Given the description of an element on the screen output the (x, y) to click on. 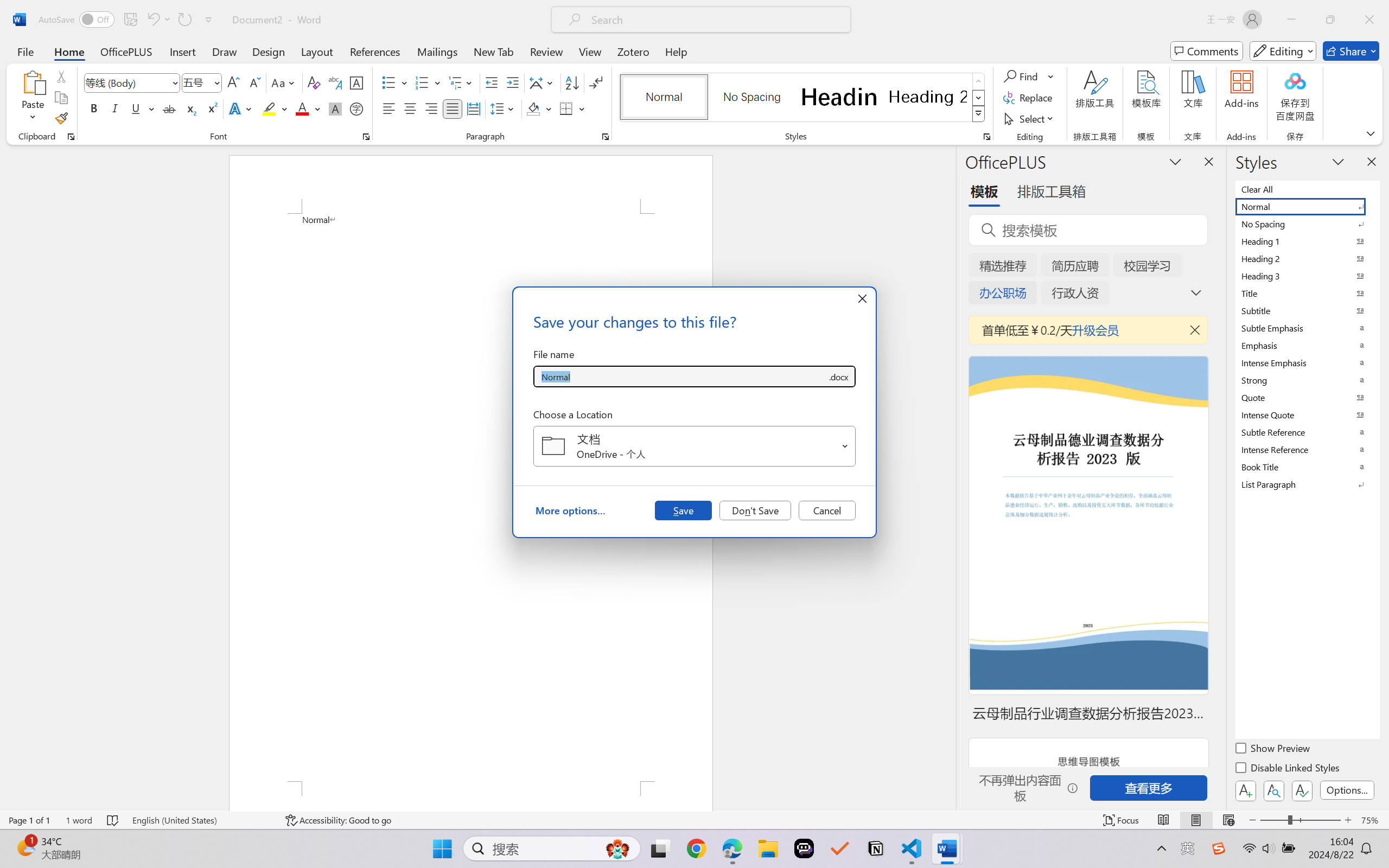
Language English (United States) (201, 819)
Grow Font (233, 82)
Font Size (201, 82)
Paragraph... (605, 136)
Heading 1 (839, 96)
Google Chrome (696, 848)
Cancel (826, 509)
Cut (60, 75)
Spelling and Grammar Check No Errors (113, 819)
Show Preview (1273, 749)
OfficePLUS (126, 51)
References (375, 51)
Mode (1283, 50)
